Given the description of an element on the screen output the (x, y) to click on. 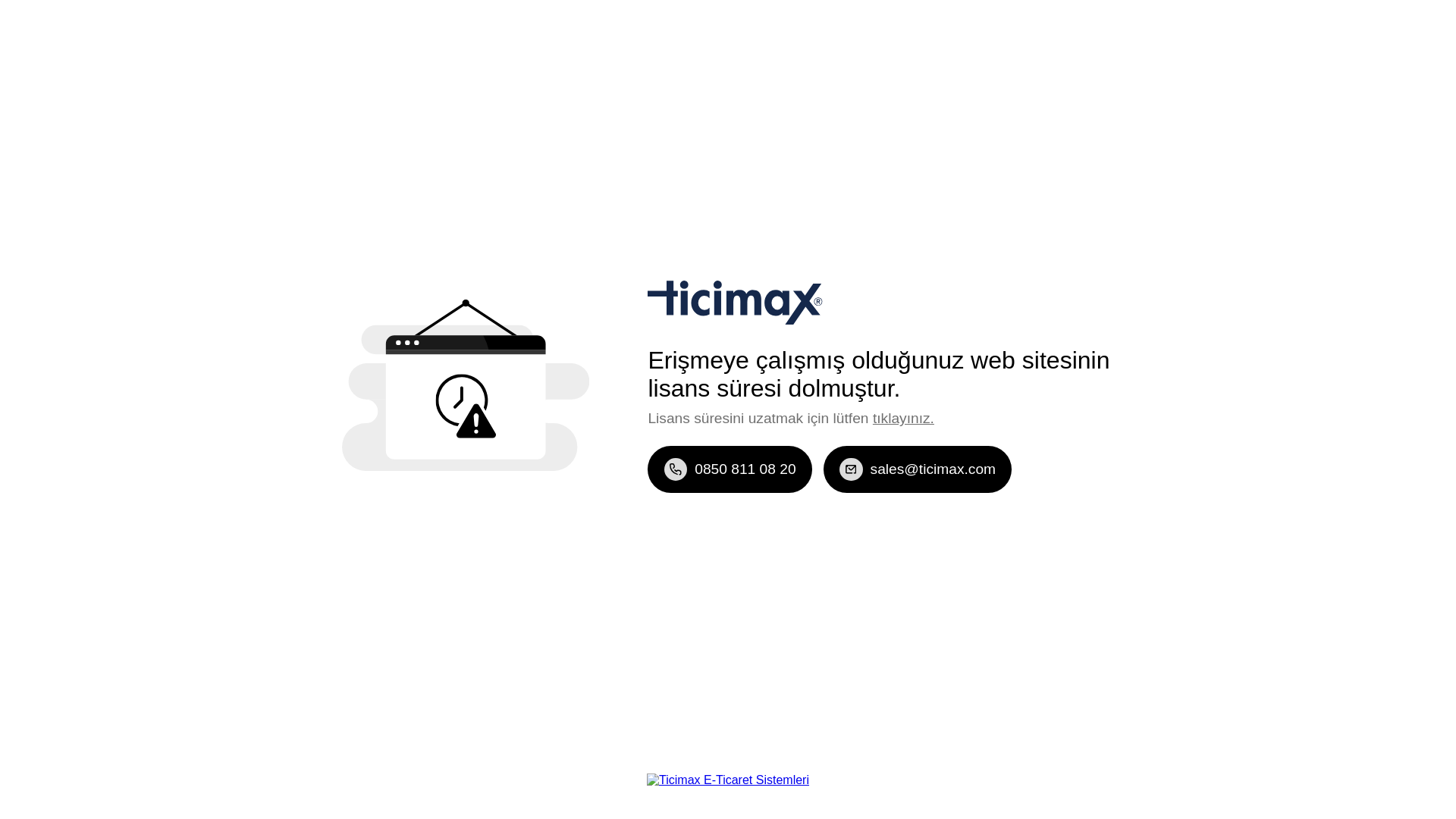
sales@ticimax.com Element type: text (917, 468)
0850 811 08 20 Element type: text (729, 468)
Ticimax E-Ticaret Sistemleri Element type: hover (727, 779)
